Given the description of an element on the screen output the (x, y) to click on. 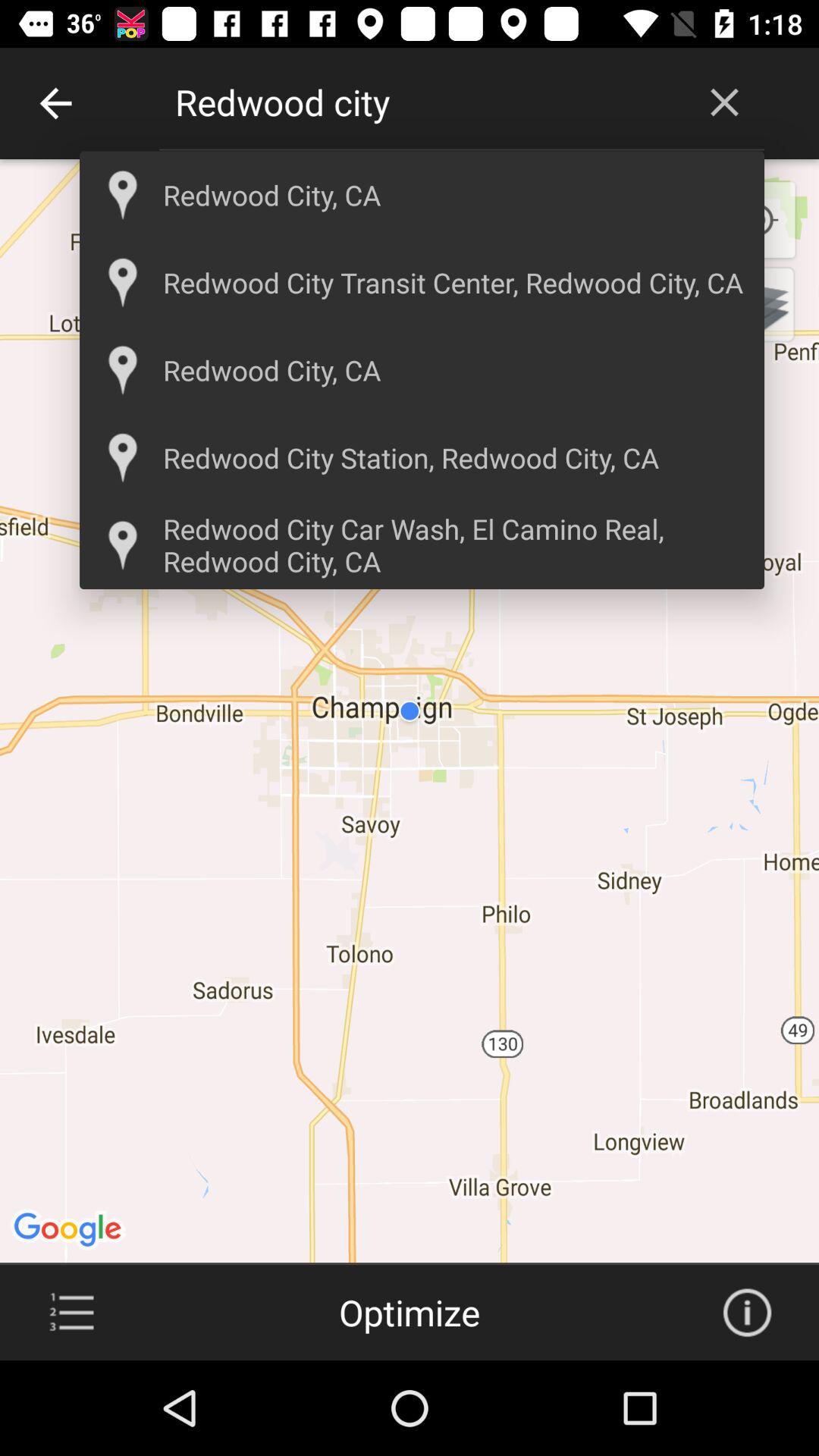
more information (747, 1312)
